Given the description of an element on the screen output the (x, y) to click on. 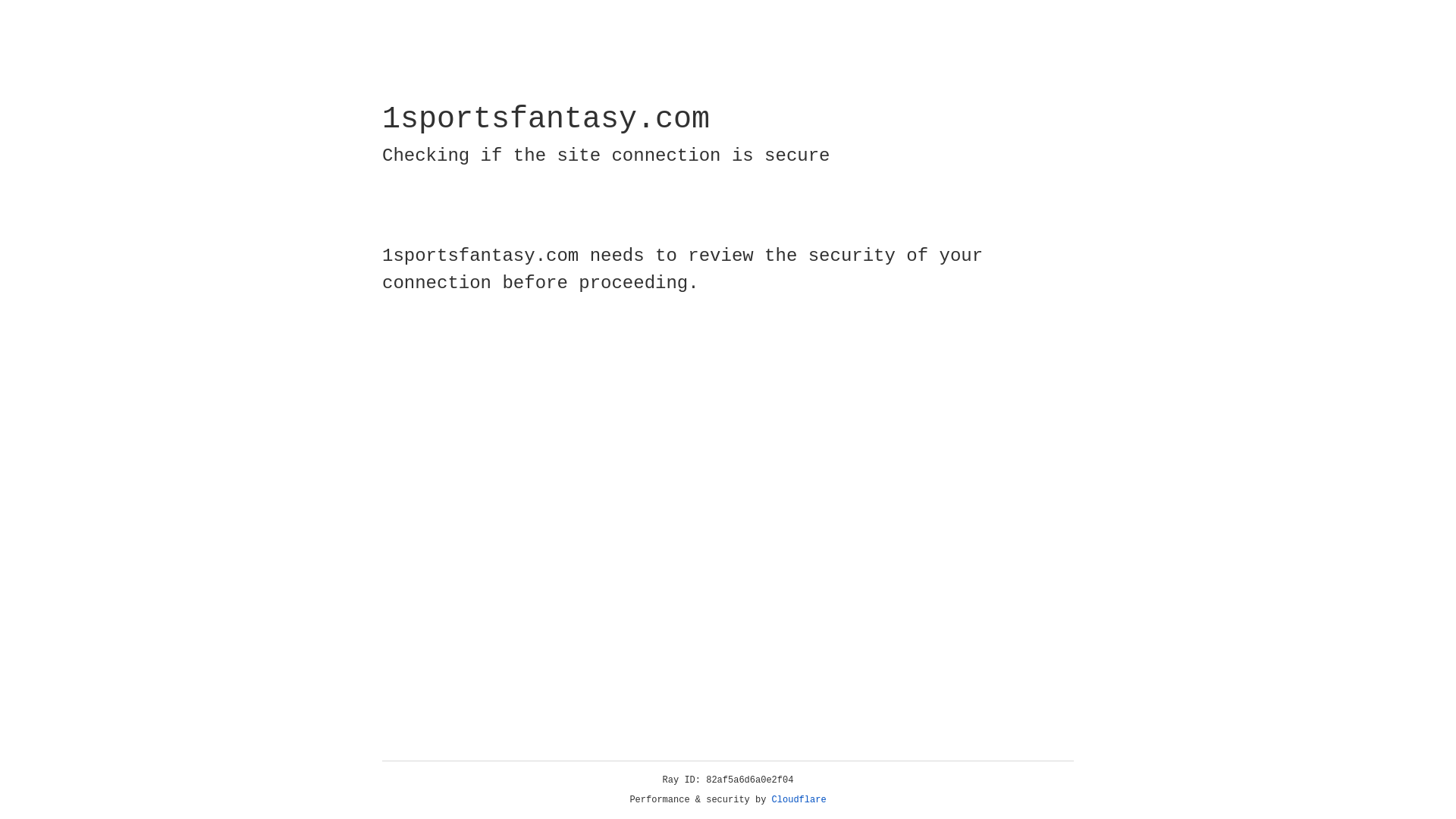
Cloudflare Element type: text (798, 799)
